Given the description of an element on the screen output the (x, y) to click on. 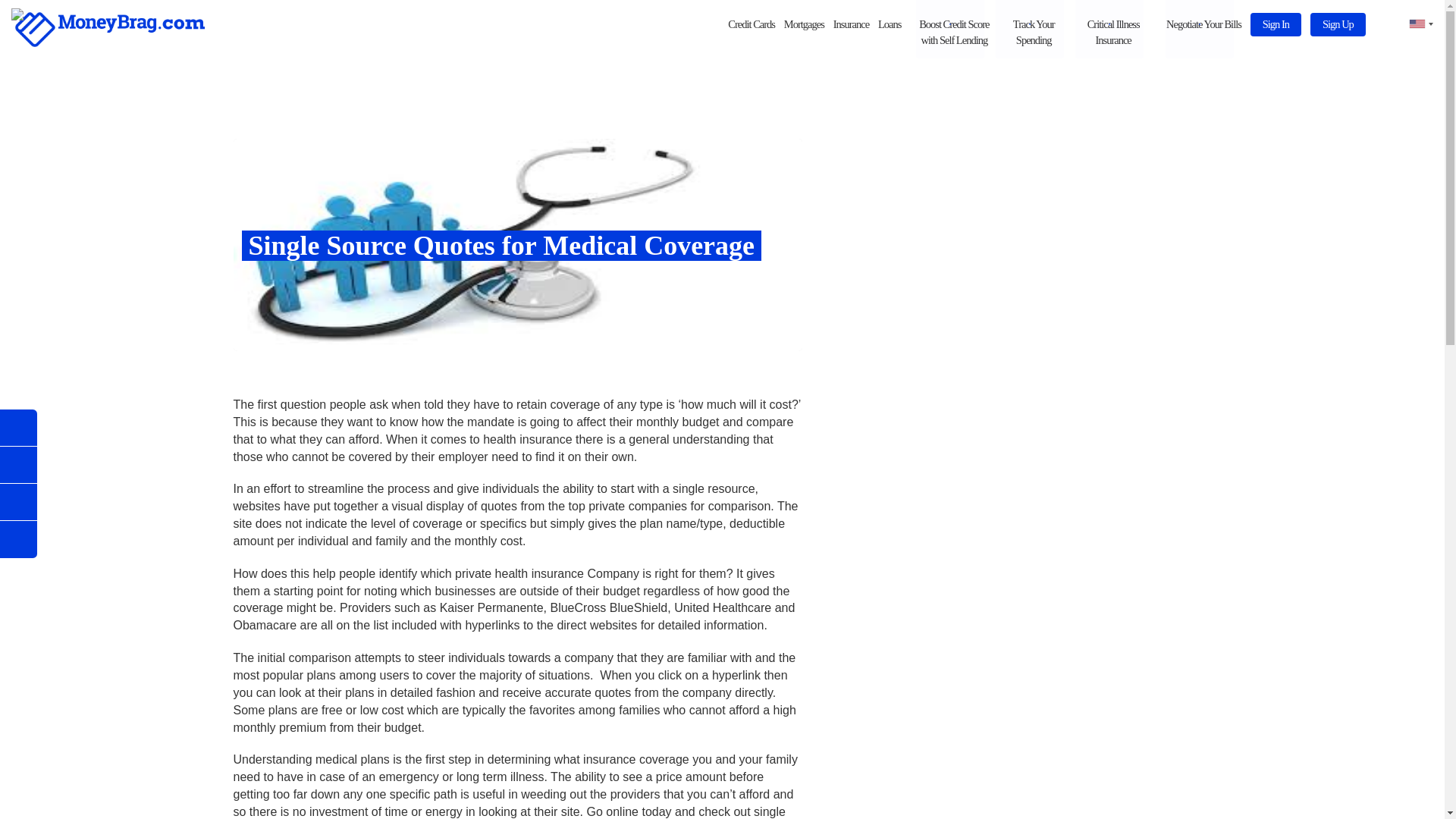
Share to Email (18, 465)
translation missing: en.Critical illness Insurance (1113, 31)
United States (1414, 24)
Share to Twitter (18, 502)
Share to Facebook (18, 427)
Credit Cards (751, 24)
